Given the description of an element on the screen output the (x, y) to click on. 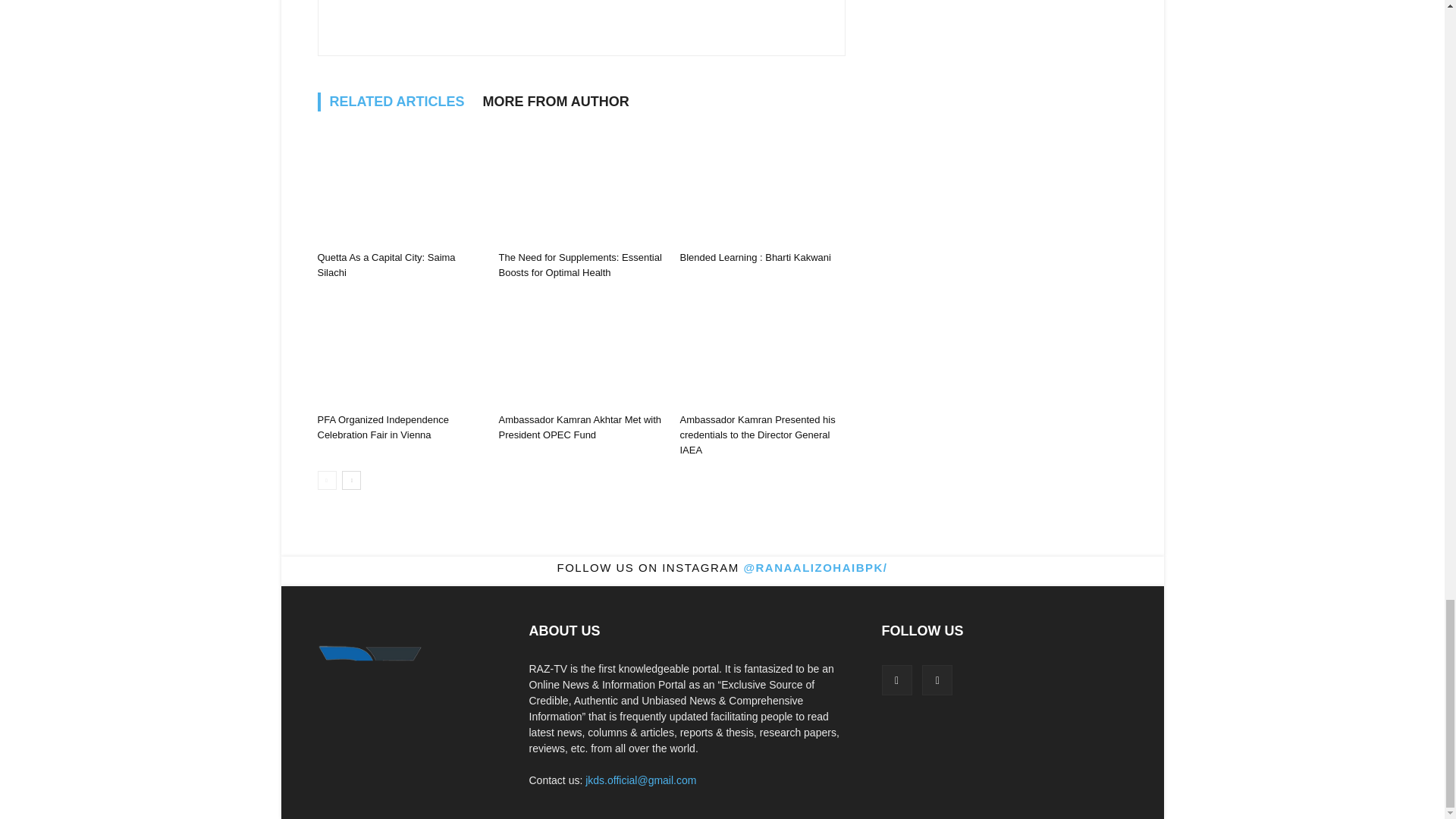
Blended Learning : Bharti Kakwani (761, 187)
Blended Learning : Bharti Kakwani (754, 256)
Quetta As a Capital City: Saima Silachi (385, 264)
Quetta As a Capital City: Saima Silachi (399, 187)
